Given the description of an element on the screen output the (x, y) to click on. 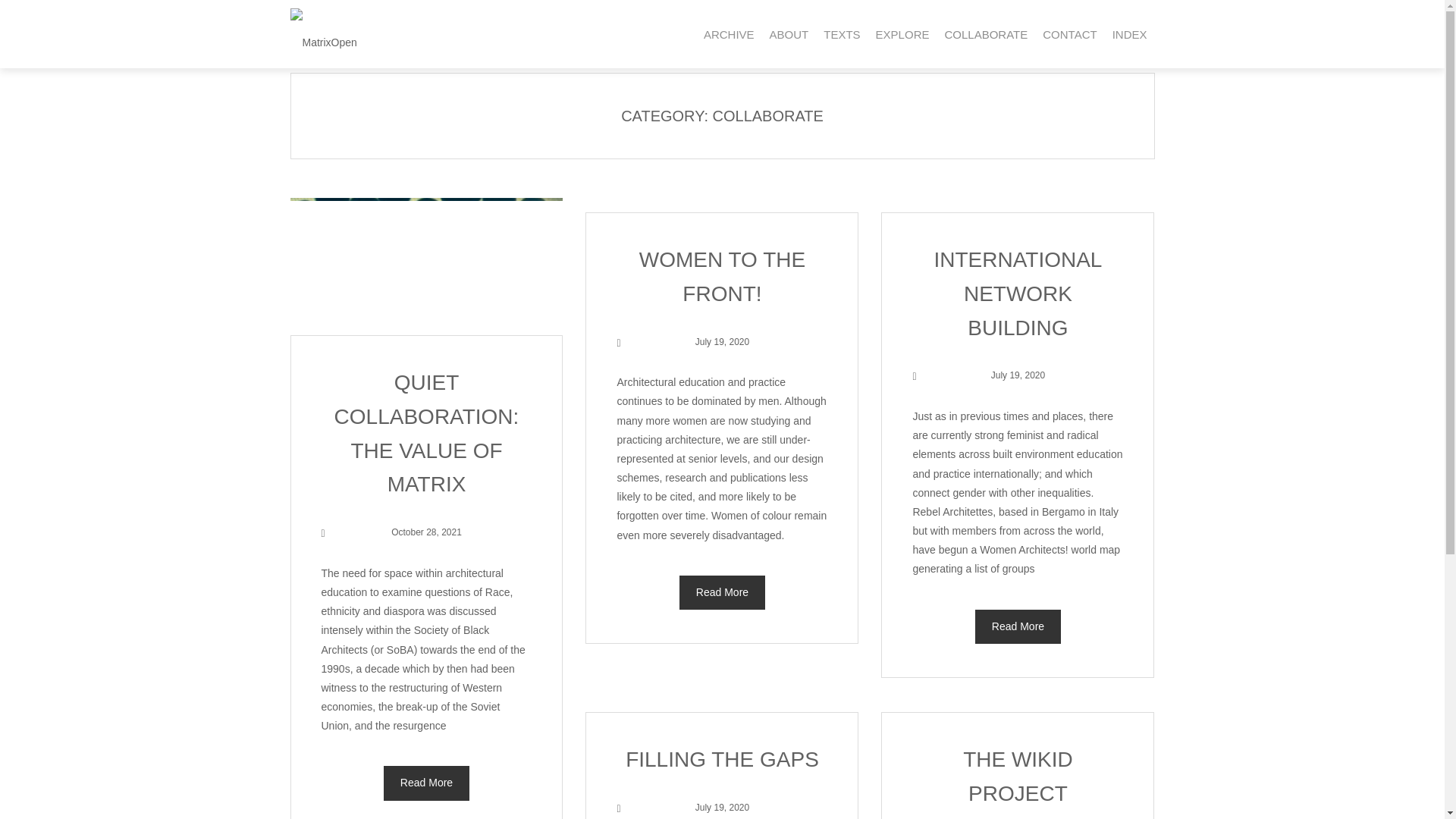
Read More (426, 782)
COLLABORATE (985, 34)
Read More (1017, 626)
EXPLORE (902, 34)
WOMEN TO THE FRONT! (722, 276)
CONTACT (1069, 34)
INTERNATIONAL NETWORK BUILDING (1017, 293)
THE WIKID PROJECT (1017, 776)
Read More (721, 592)
Read More (1017, 626)
